Given the description of an element on the screen output the (x, y) to click on. 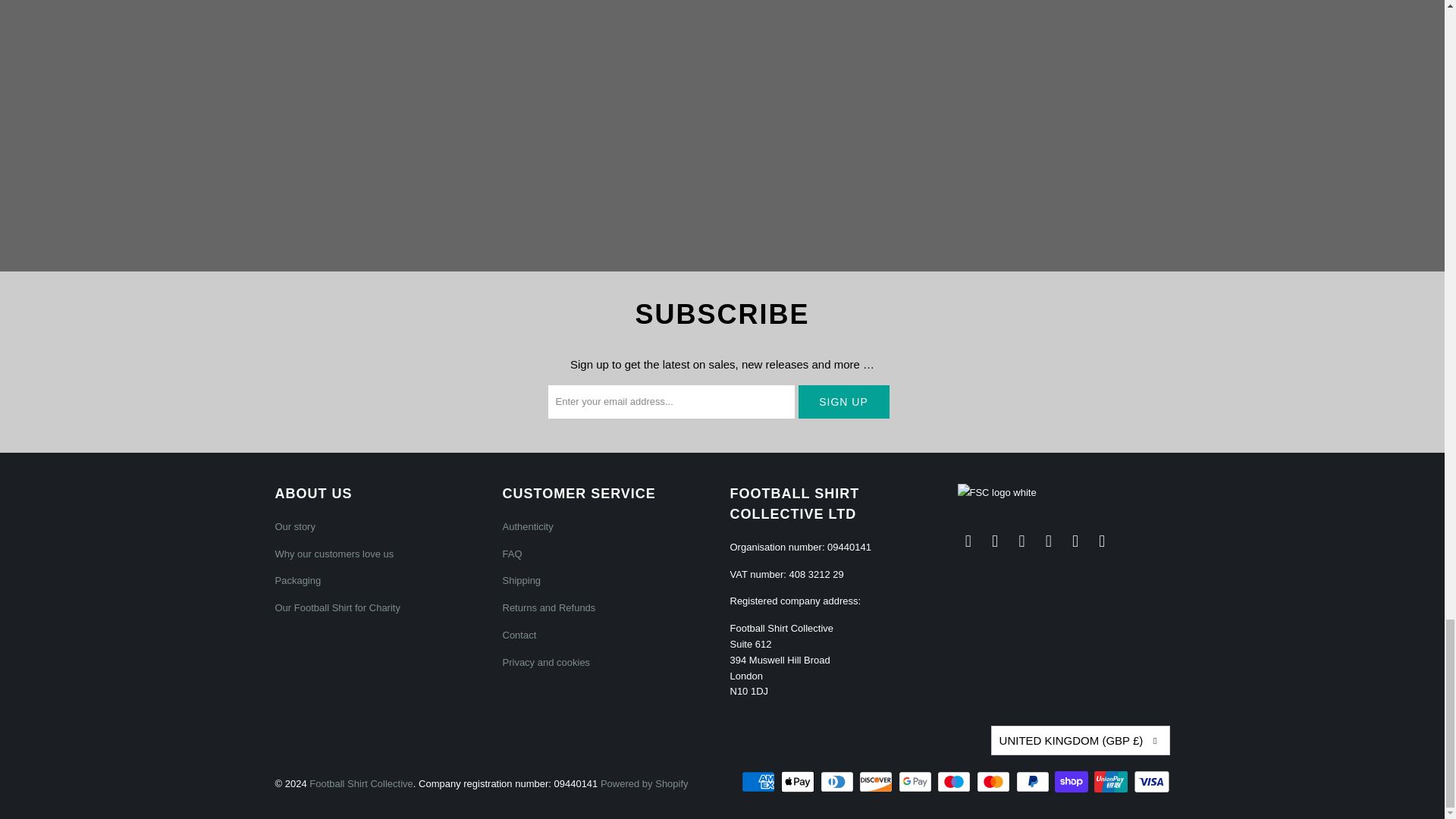
Maestro (955, 781)
Mastercard (994, 781)
Visa (1150, 781)
Google Pay (916, 781)
Apple Pay (798, 781)
PayPal (1034, 781)
American Express (759, 781)
Union Pay (1112, 781)
Shop Pay (1072, 781)
Diners Club (839, 781)
Email Football Shirt Collective (967, 541)
Sign Up (842, 401)
Discover (877, 781)
